Given the description of an element on the screen output the (x, y) to click on. 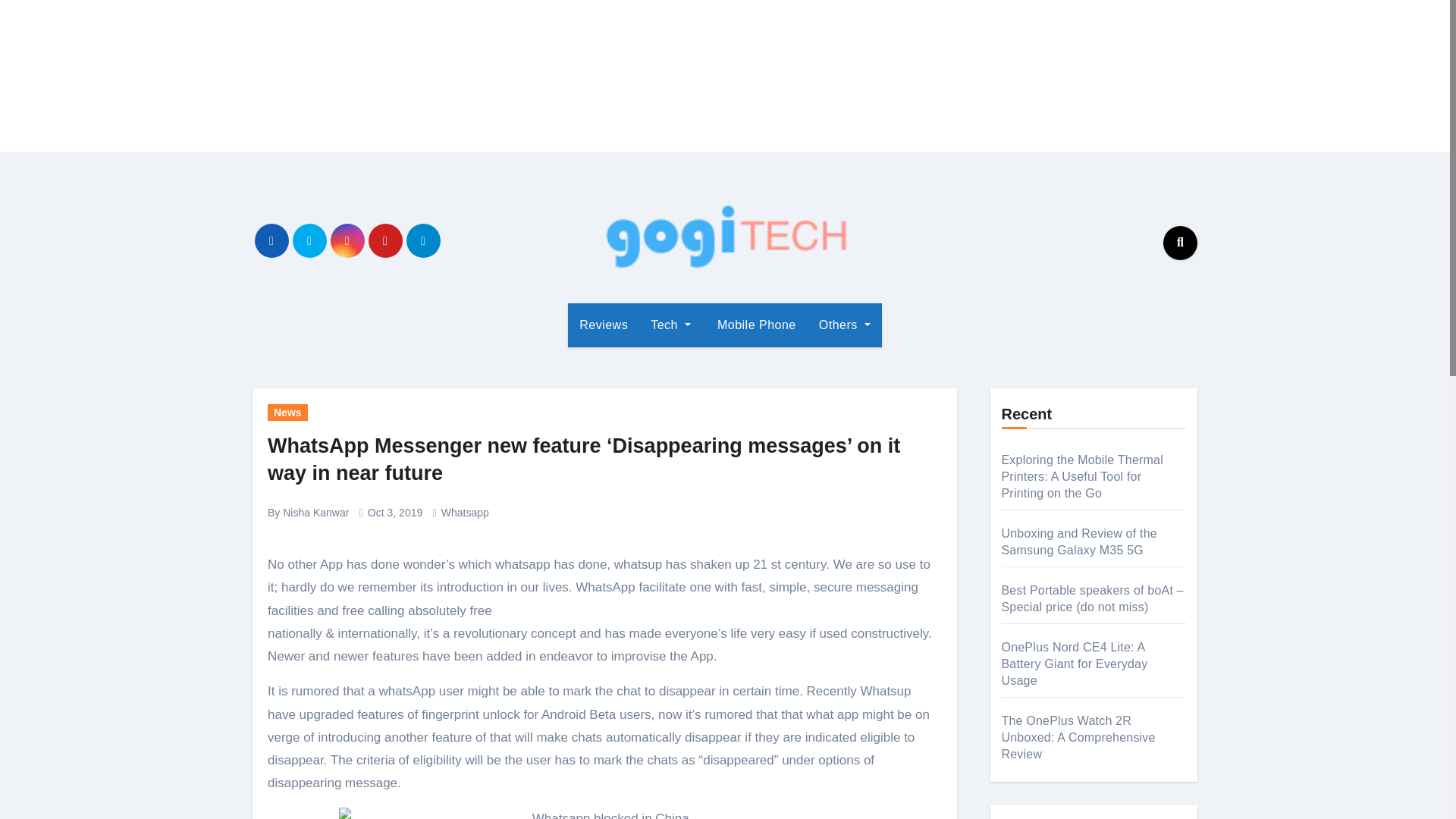
News (287, 412)
 Mobile Phone (754, 325)
Others (845, 325)
Tech (670, 325)
Mobile Phone Section (754, 325)
Reviews (603, 325)
Reviews (603, 325)
By Nisha Kanwar (308, 512)
Tech (670, 325)
Others (845, 325)
